Given the description of an element on the screen output the (x, y) to click on. 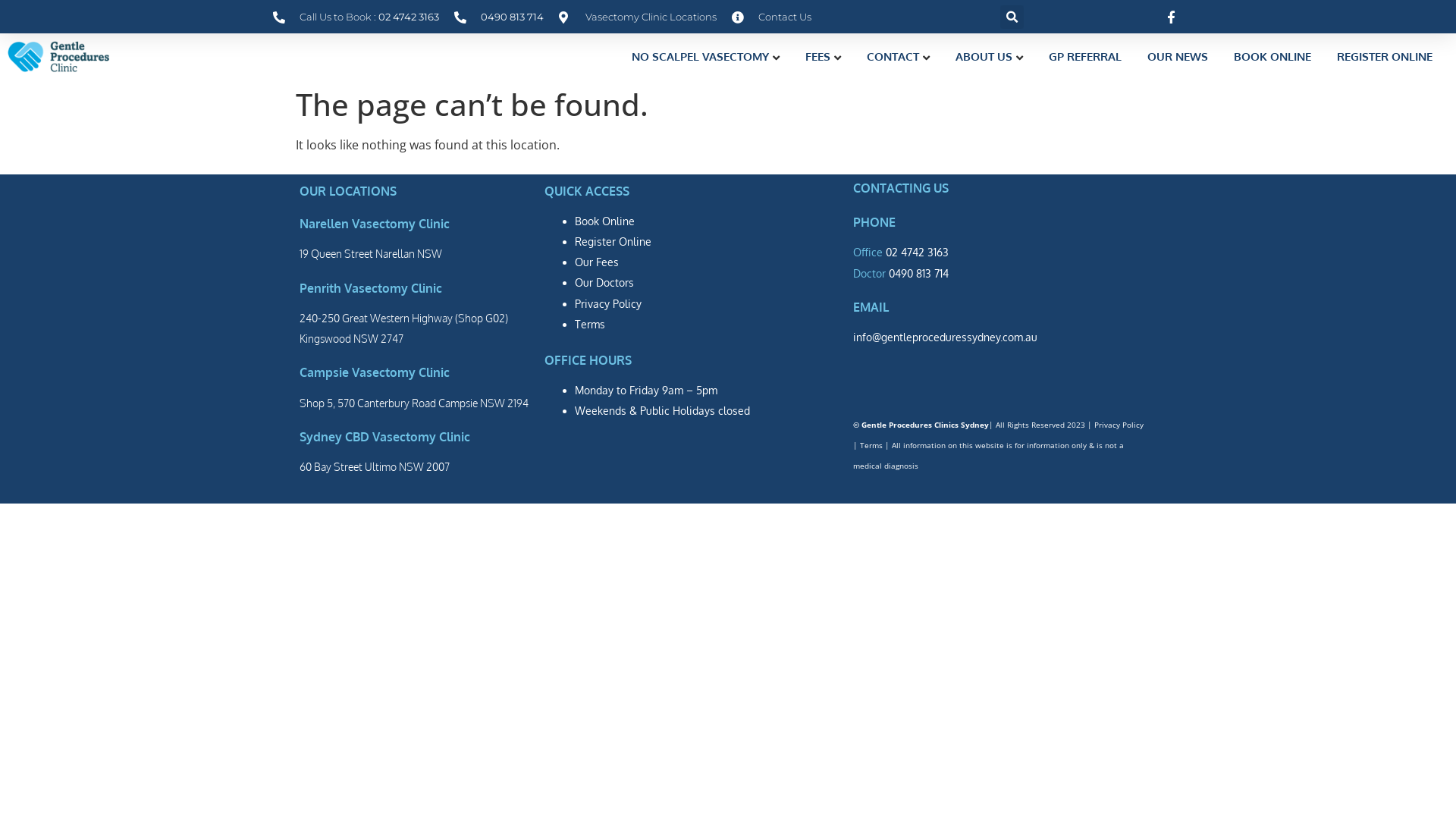
Contact Us Element type: text (771, 16)
BOOK ONLINE Element type: text (1272, 56)
info@gentleproceduressydney.com.au Element type: text (945, 336)
Our Fees Element type: text (596, 261)
Register Online Element type: text (612, 241)
Book Online Element type: text (604, 220)
FEES Element type: text (822, 56)
02 4742 3163 Element type: text (915, 251)
Vasectomy Clinic Locations Element type: text (637, 16)
0490 813 714 Element type: text (498, 16)
GP REFERRAL Element type: text (1084, 56)
NO SCALPEL VASECTOMY Element type: text (705, 56)
CONTACT Element type: text (897, 56)
Privacy Policy Element type: text (1118, 424)
REGISTER ONLINE Element type: text (1384, 56)
0490 813 714 Element type: text (918, 272)
Our Doctors Element type: text (603, 282)
Terms Element type: text (869, 444)
ABOUT US Element type: text (988, 56)
OUR NEWS Element type: text (1177, 56)
Call Us to Book : 02 4742 3163 Element type: text (356, 16)
